Given the description of an element on the screen output the (x, y) to click on. 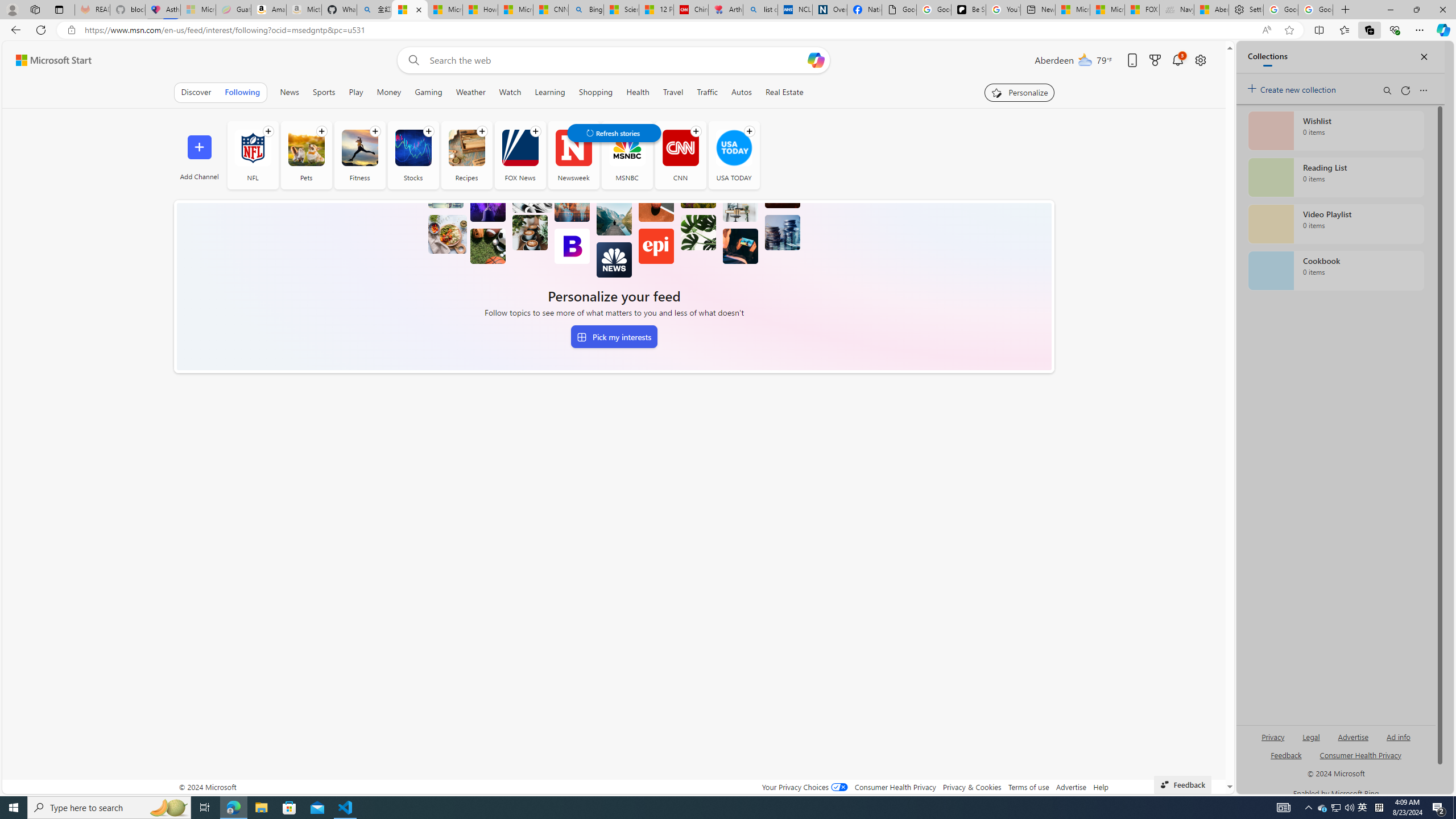
USA TODAY (733, 155)
Fitness (359, 155)
Asthma Inhalers: Names and Types (161, 9)
Pick my interests (614, 336)
Terms of use (1028, 786)
Play (355, 92)
Weather (470, 92)
Learning (549, 92)
USA TODAY (733, 147)
Advertise (1070, 786)
Money (388, 92)
Add Channel (199, 155)
Favorites (1344, 29)
Shopping (595, 92)
